Given the description of an element on the screen output the (x, y) to click on. 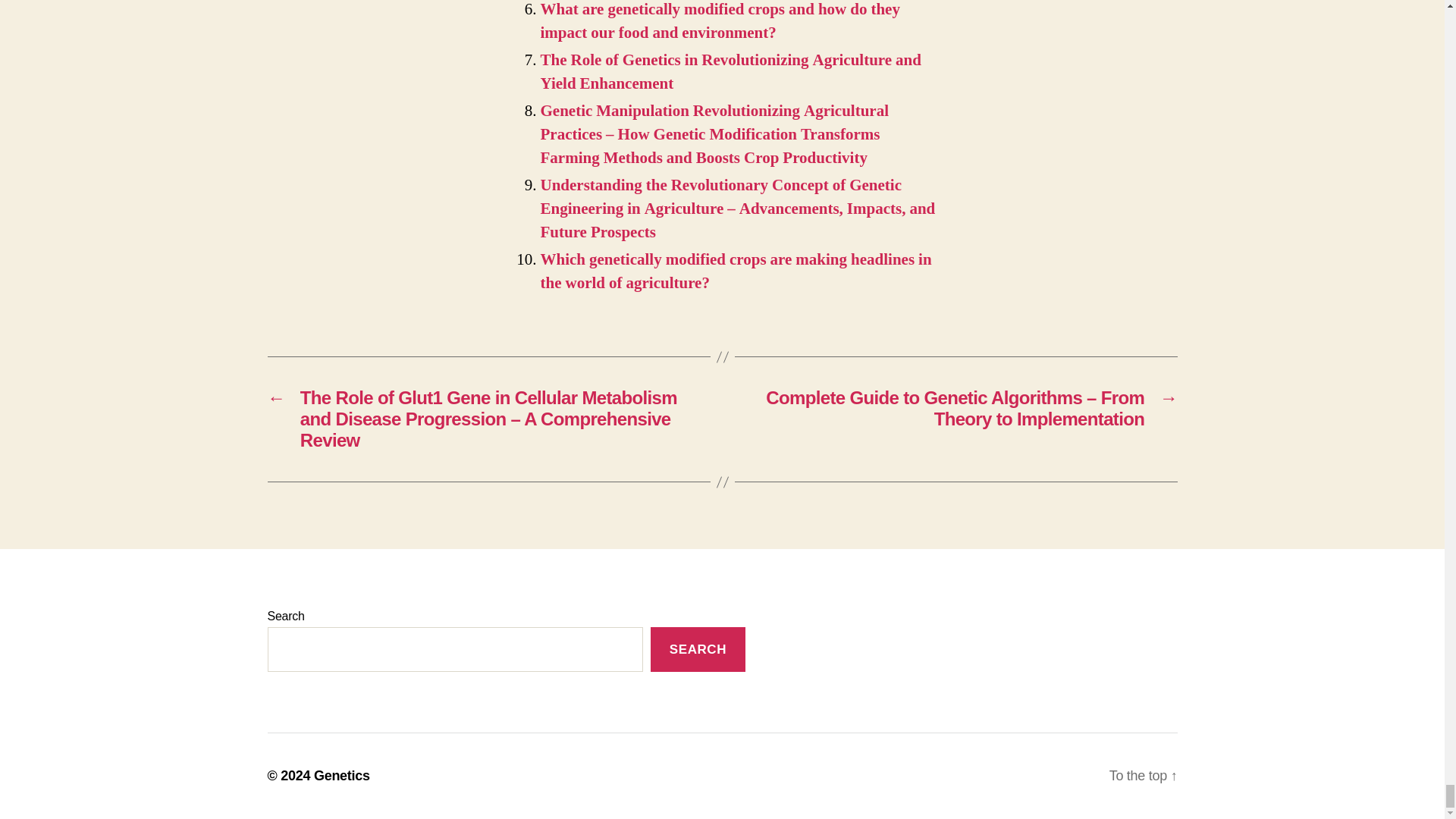
SEARCH (697, 649)
Genetics (341, 775)
